Given the description of an element on the screen output the (x, y) to click on. 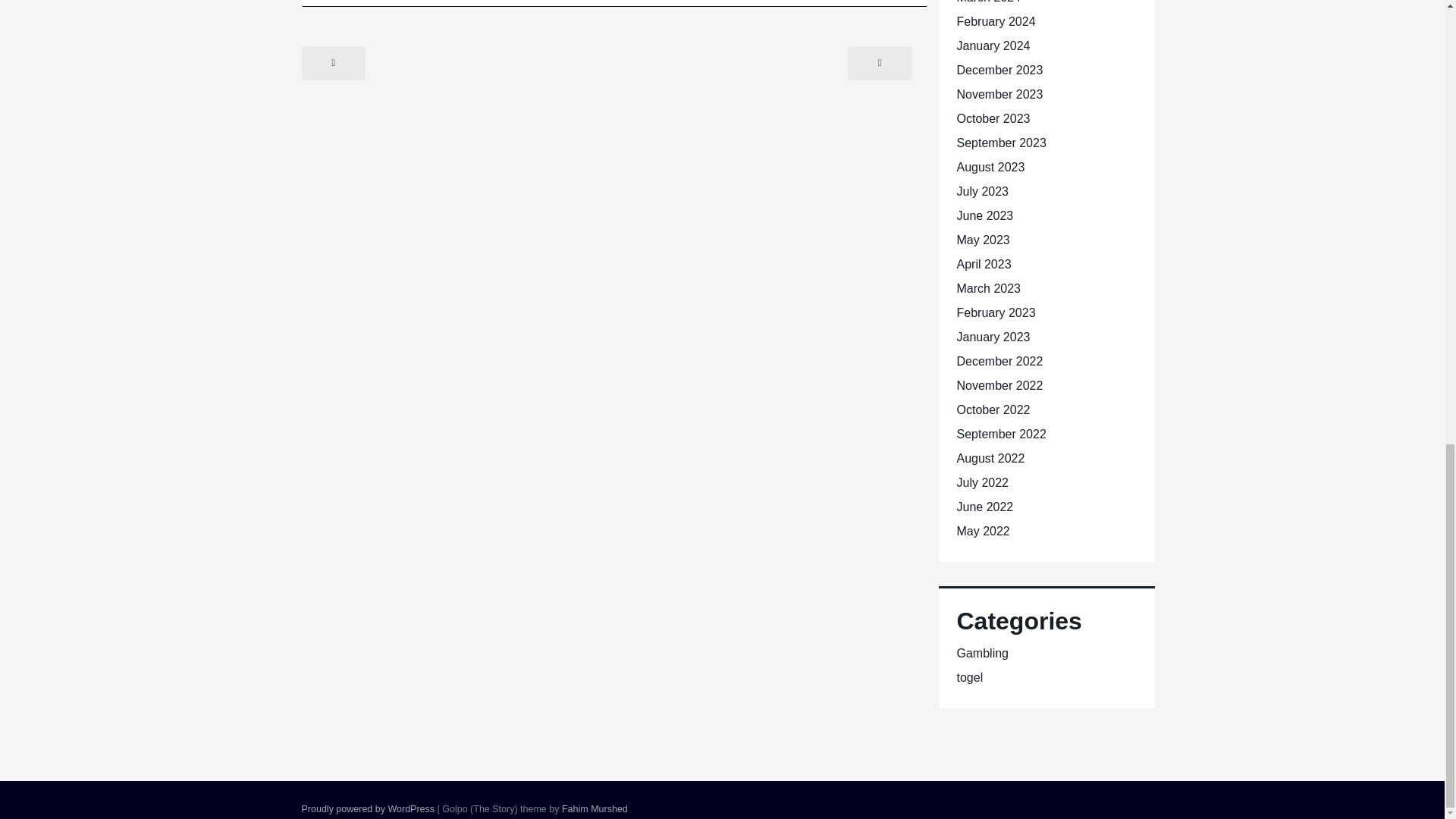
September 2023 (1001, 142)
August 2022 (990, 458)
May 2023 (983, 239)
January 2023 (993, 336)
October 2023 (993, 118)
February 2024 (995, 21)
July 2023 (982, 191)
January 2024 (993, 45)
December 2022 (999, 360)
March 2024 (989, 2)
November 2023 (999, 93)
December 2023 (999, 69)
October 2022 (993, 409)
June 2022 (984, 506)
November 2022 (999, 385)
